Given the description of an element on the screen output the (x, y) to click on. 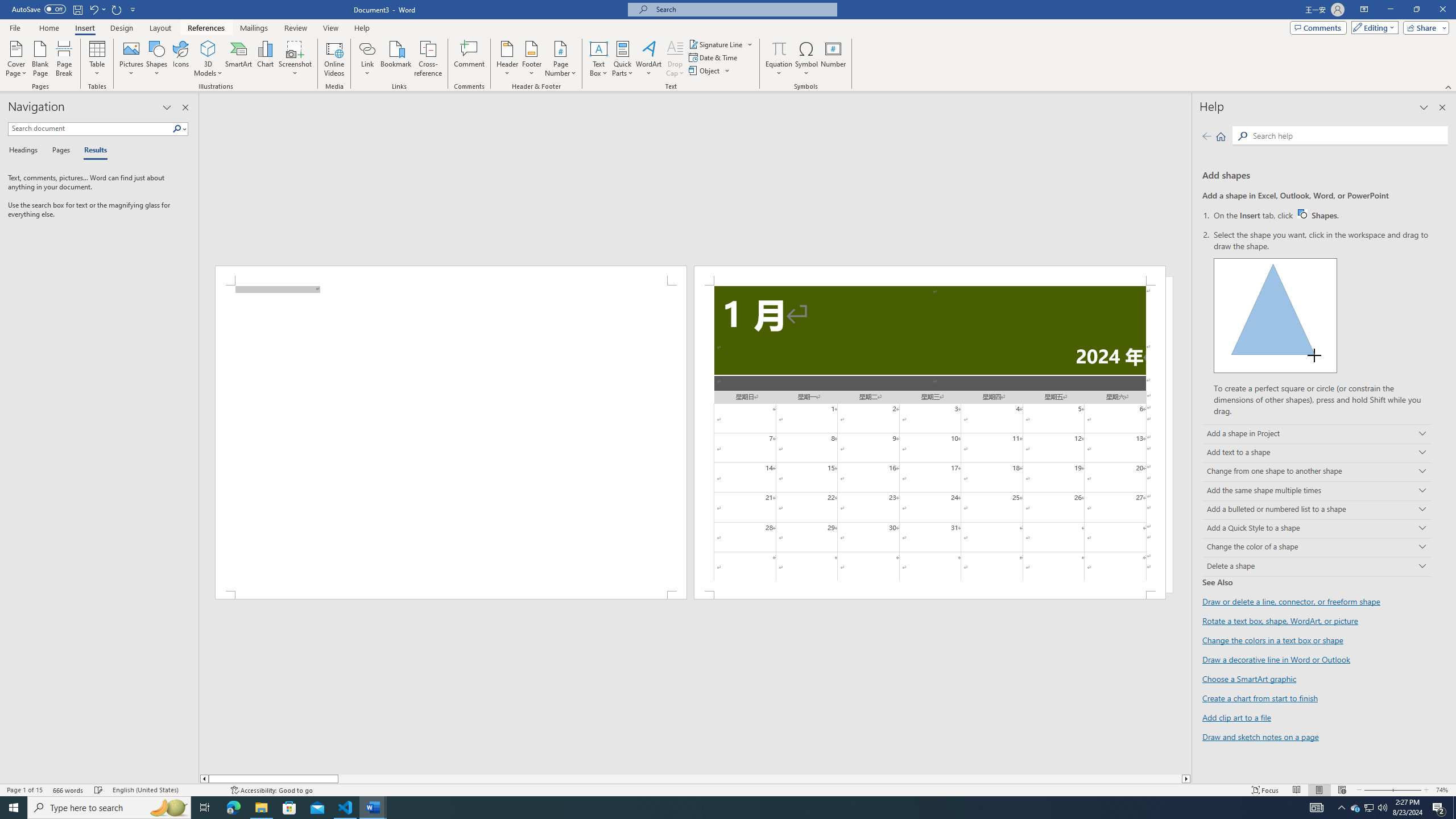
Add a shape in Project (1316, 434)
Bookmark... (396, 58)
Shapes (156, 58)
Page Number Page 1 of 15 (24, 790)
Draw a decorative line in Word or Outlook (1275, 659)
Cover Page (16, 58)
